Given the description of an element on the screen output the (x, y) to click on. 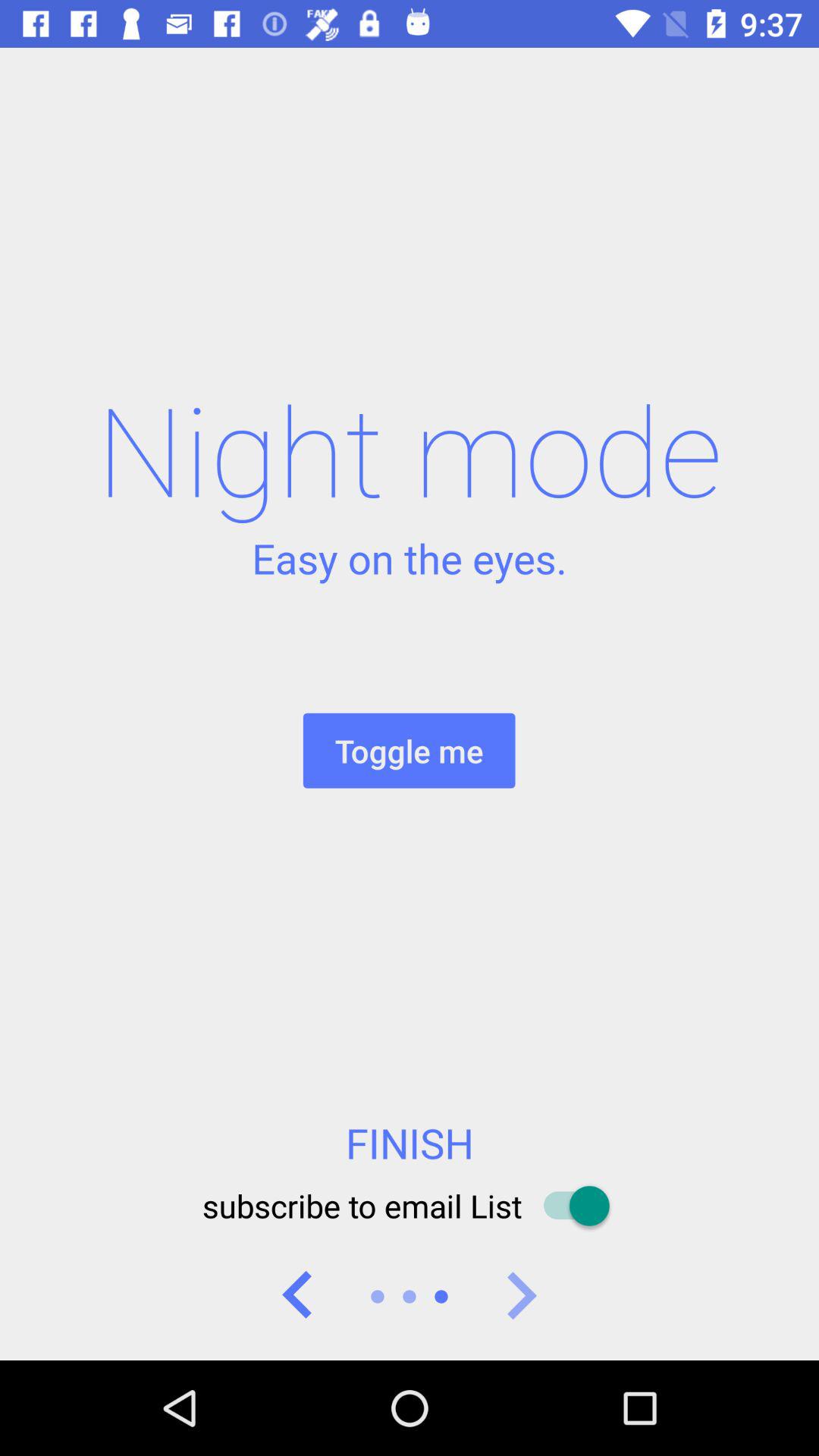
turn off the subscribe to email item (409, 1206)
